Given the description of an element on the screen output the (x, y) to click on. 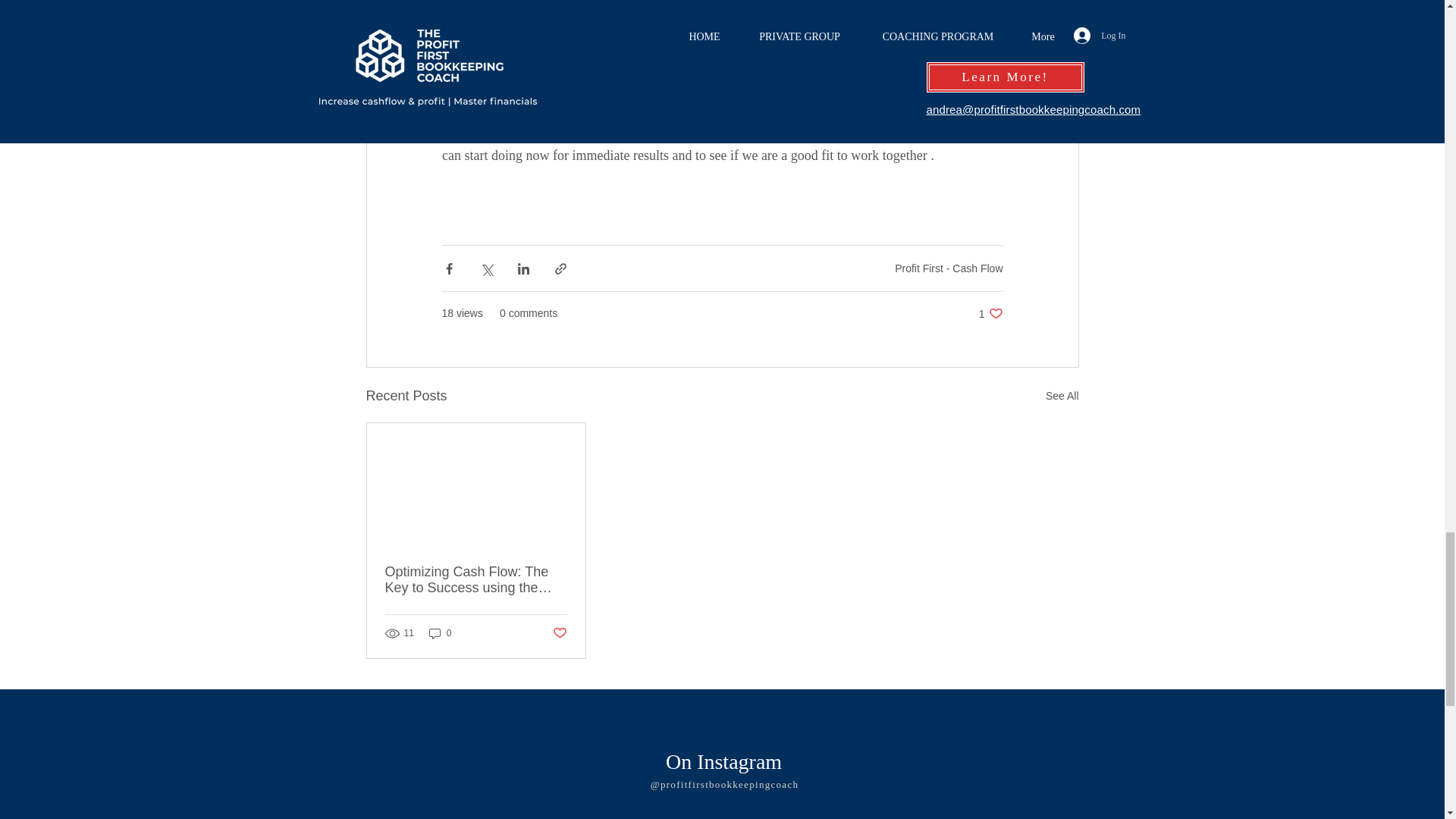
Post not marked as liked (558, 633)
schedule a 15 min strategy session (808, 134)
Profit First - Cash Flow (949, 268)
0 (440, 633)
See All (990, 313)
